Given the description of an element on the screen output the (x, y) to click on. 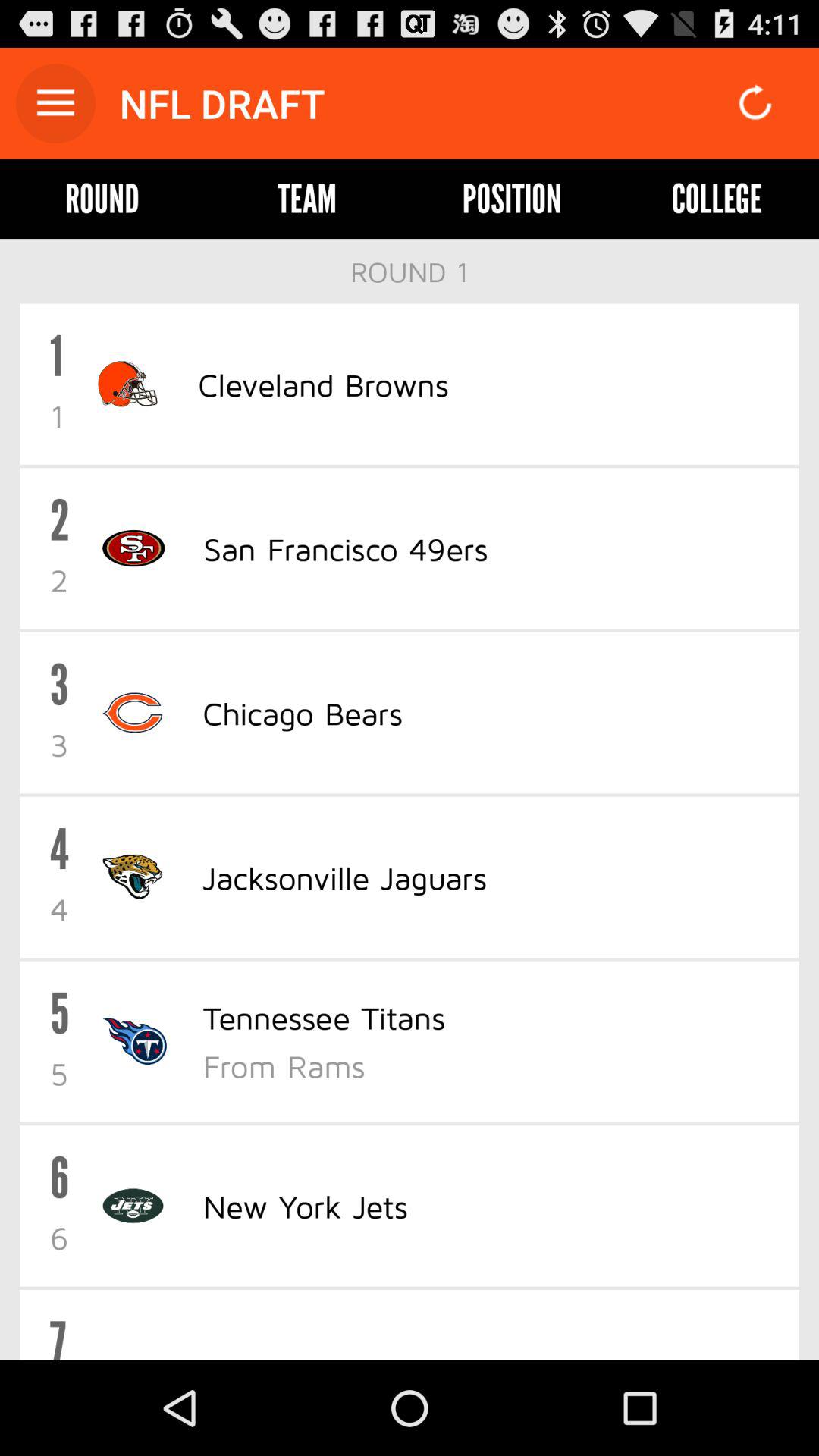
choose the icon above the new york jets (491, 1065)
